Given the description of an element on the screen output the (x, y) to click on. 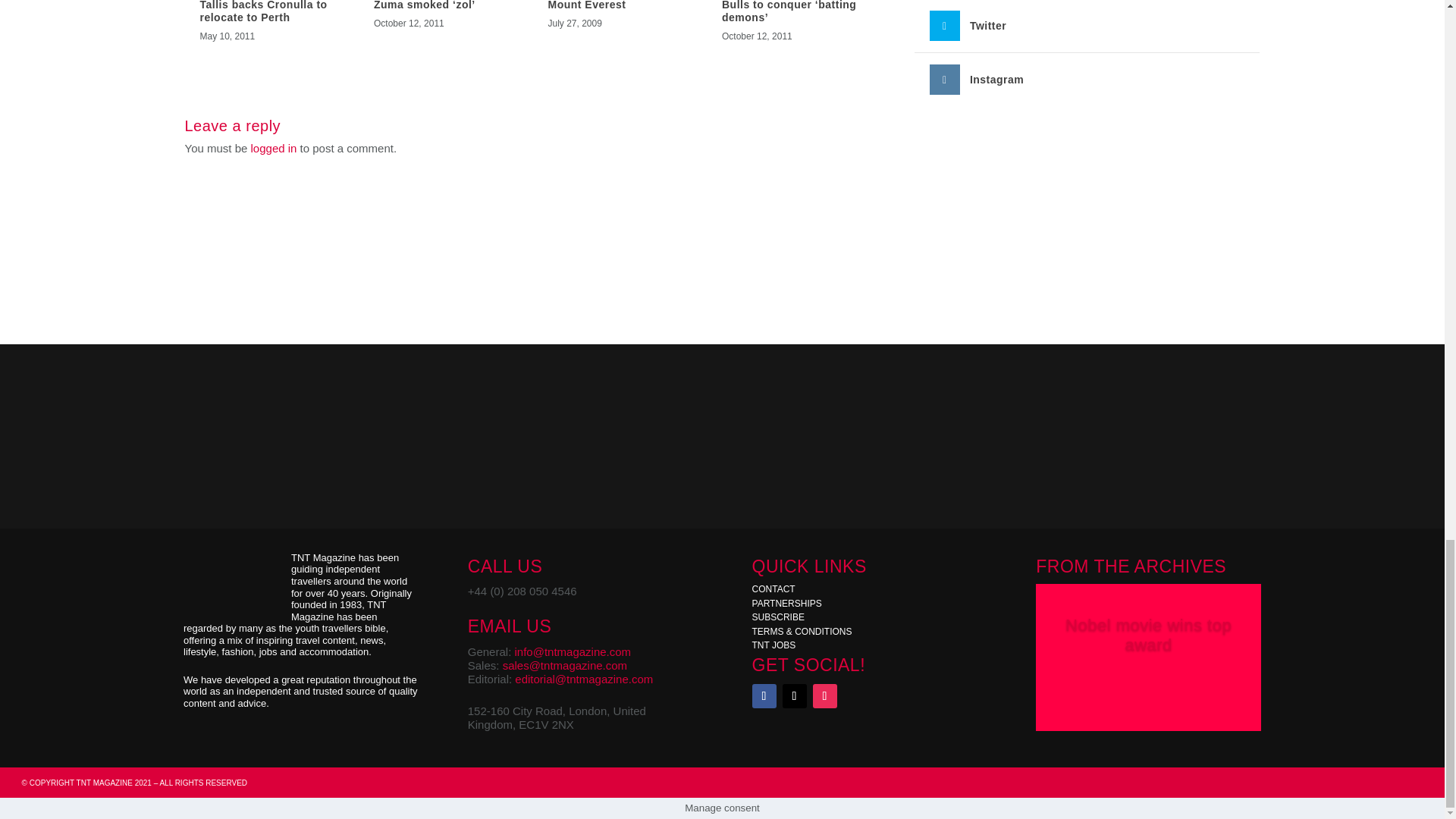
Tallis backs Cronulla to relocate to Perth (263, 11)
Mount Everest (586, 5)
